Given the description of an element on the screen output the (x, y) to click on. 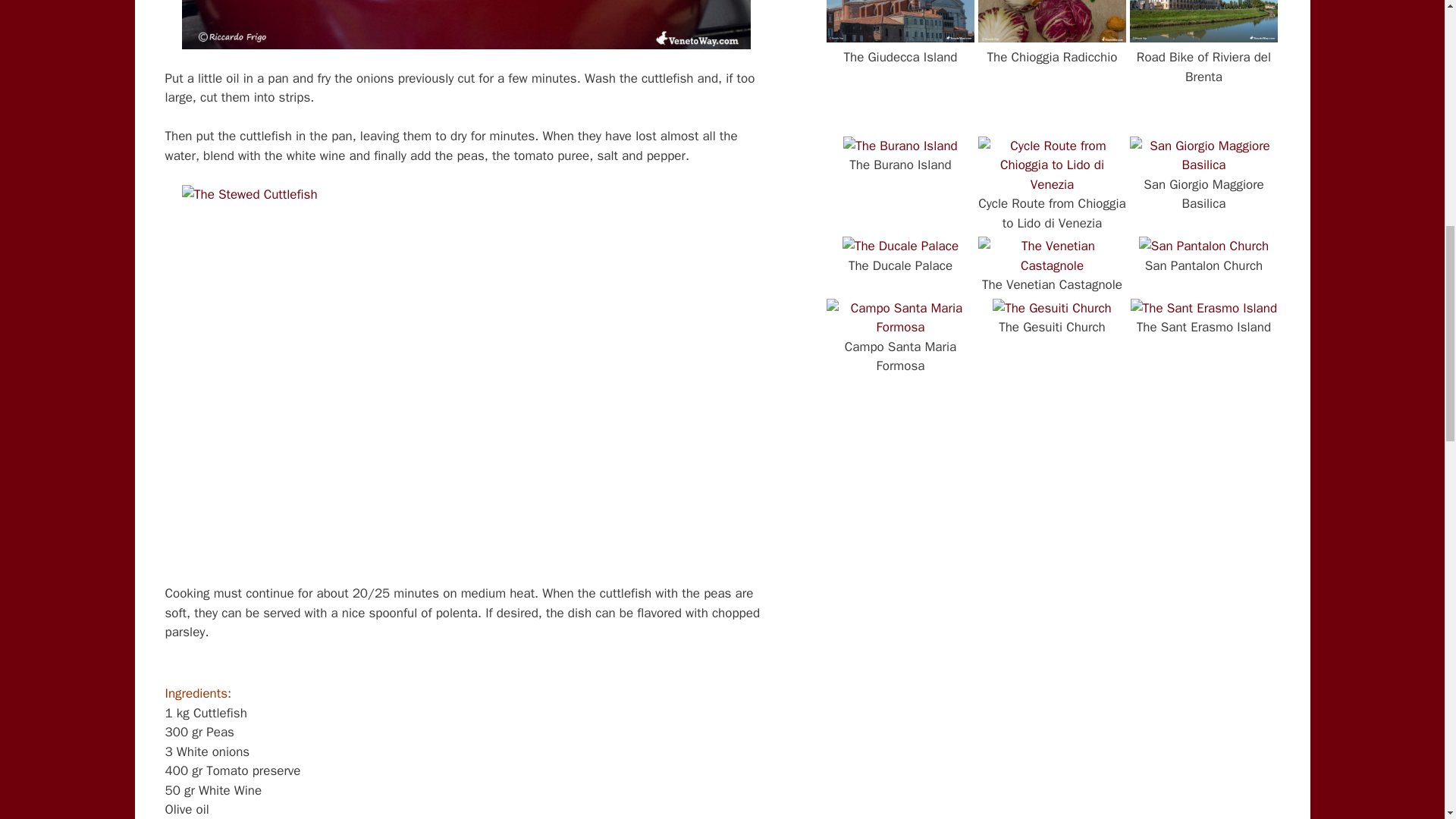
The Stewed Cuttlefish  (466, 24)
